Given the description of an element on the screen output the (x, y) to click on. 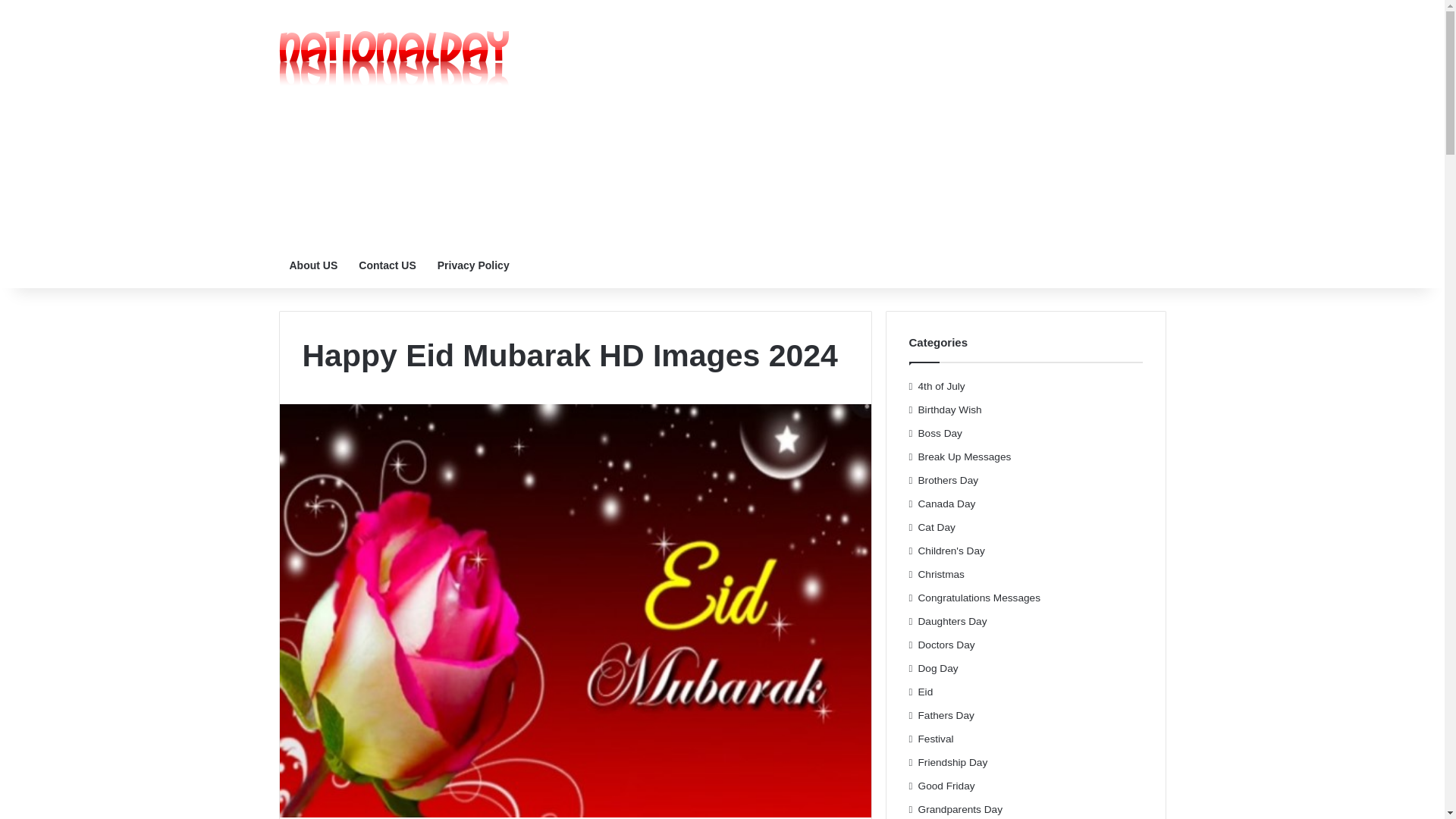
4th of July (941, 385)
Advertisement (874, 121)
Brothers Day (948, 480)
Contact US (386, 265)
Break Up Messages (964, 456)
Privacy Policy (472, 265)
Canada Day (946, 503)
Birthday Wish (949, 409)
Happy National Day (395, 62)
Cat Day (936, 527)
Boss Day (940, 433)
About US (314, 265)
